Given the description of an element on the screen output the (x, y) to click on. 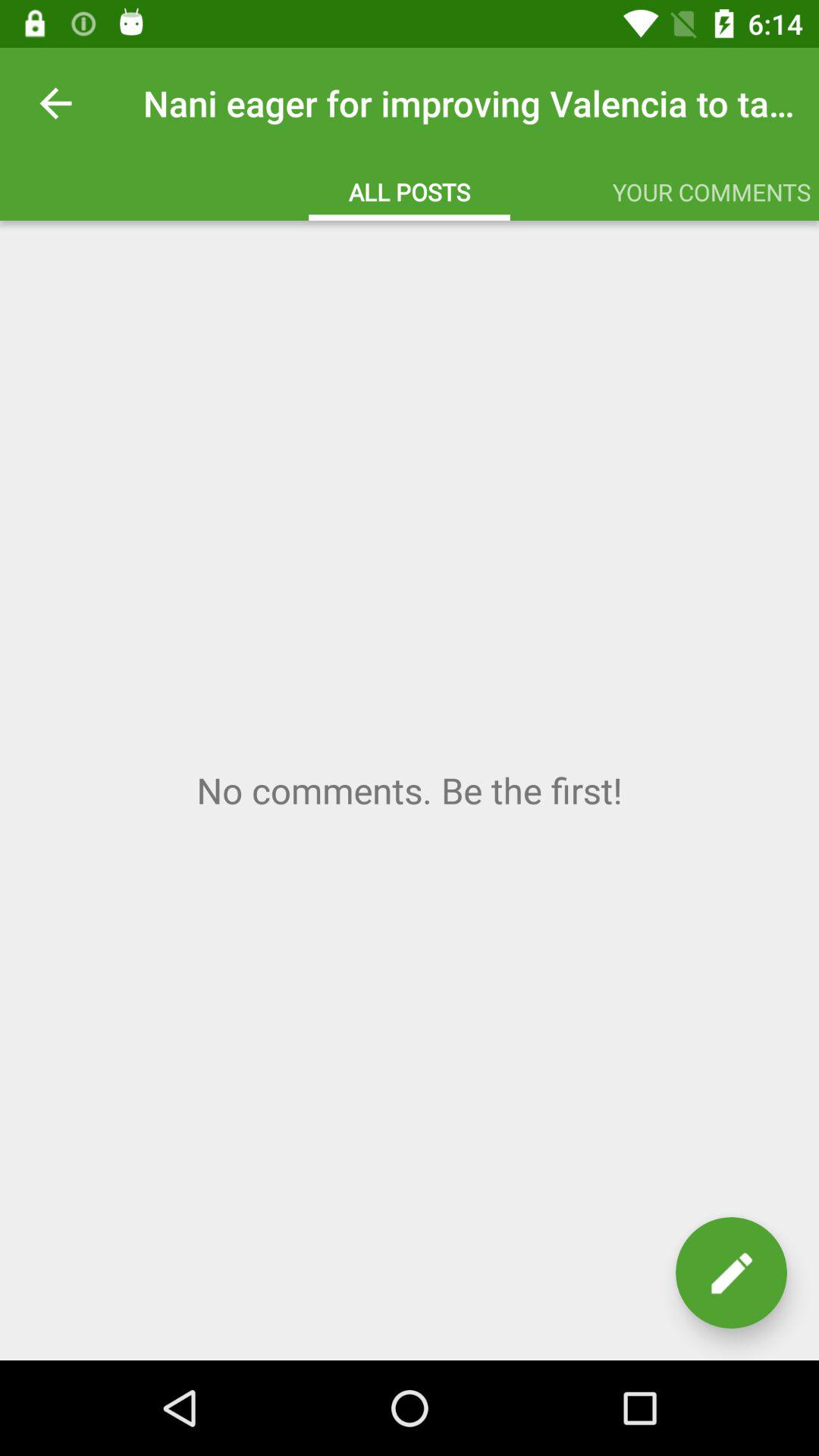
comment area (409, 790)
